Given the description of an element on the screen output the (x, y) to click on. 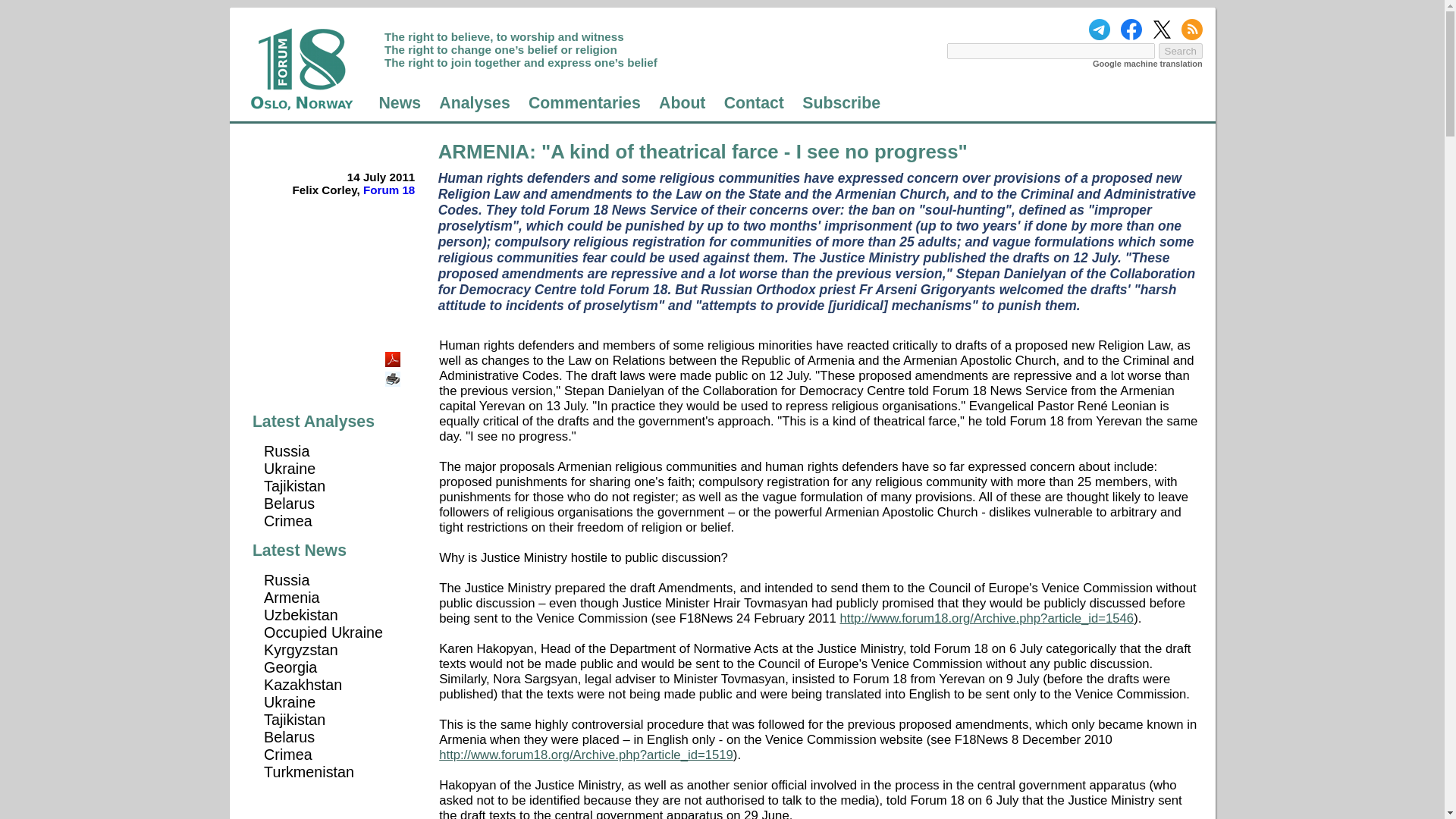
Belarus (288, 503)
Russia (285, 451)
About (681, 103)
Russia (285, 579)
Occupied Ukraine (322, 632)
Tajikistan (293, 485)
Commentaries (584, 103)
Print (394, 373)
Contact (753, 103)
News (399, 103)
Armenia (291, 597)
Subscribe (841, 103)
Uzbekistan (300, 614)
Kyrgyzstan (300, 649)
Ukraine (289, 468)
